Given the description of an element on the screen output the (x, y) to click on. 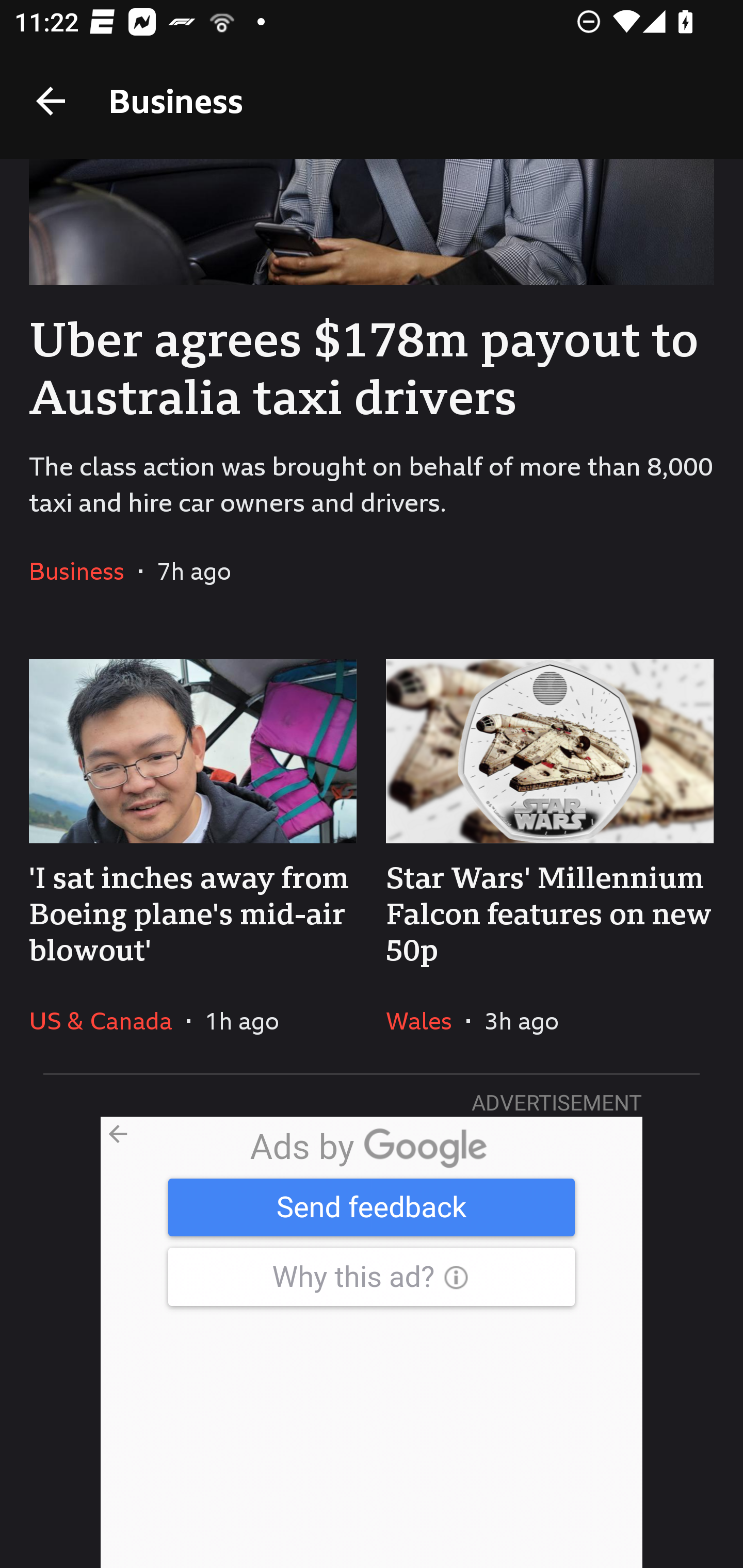
Back (50, 101)
Business In the section Business (83, 570)
US & Canada In the section US & Canada (107, 1020)
Wales In the section Wales (425, 1020)
300x250 (371, 1342)
